Given the description of an element on the screen output the (x, y) to click on. 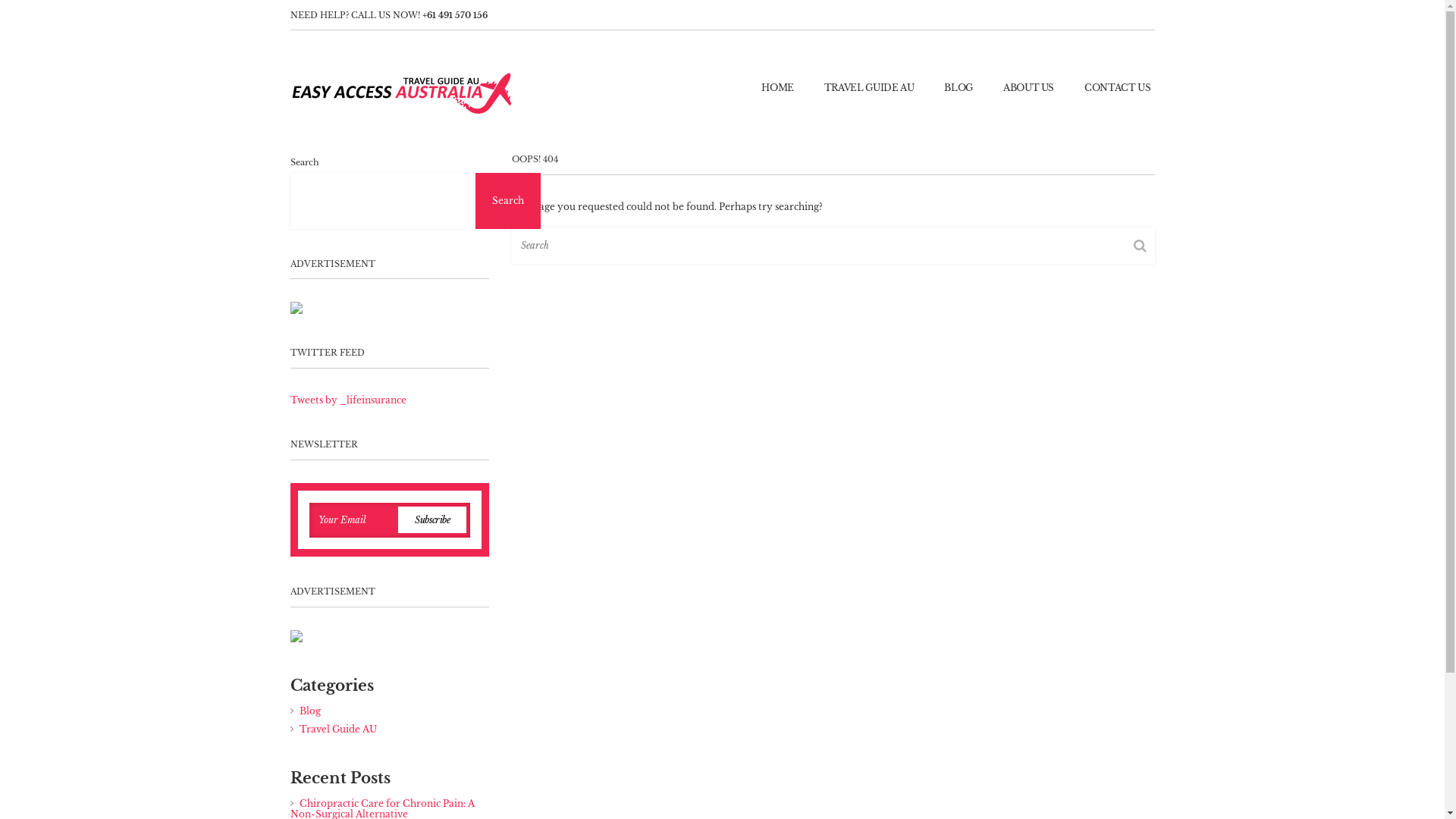
Subscribe Element type: text (432, 519)
ABOUT US Element type: text (1028, 87)
Blog Element type: text (309, 710)
Search Element type: text (506, 200)
Travel Guide AU Element type: text (337, 728)
HOME Element type: text (777, 87)
TRAVEL GUIDE AU Element type: text (869, 87)
Tweets by _lifeinsurance Element type: text (347, 399)
CONTACT US Element type: text (1117, 87)
BLOG Element type: text (958, 87)
